Given the description of an element on the screen output the (x, y) to click on. 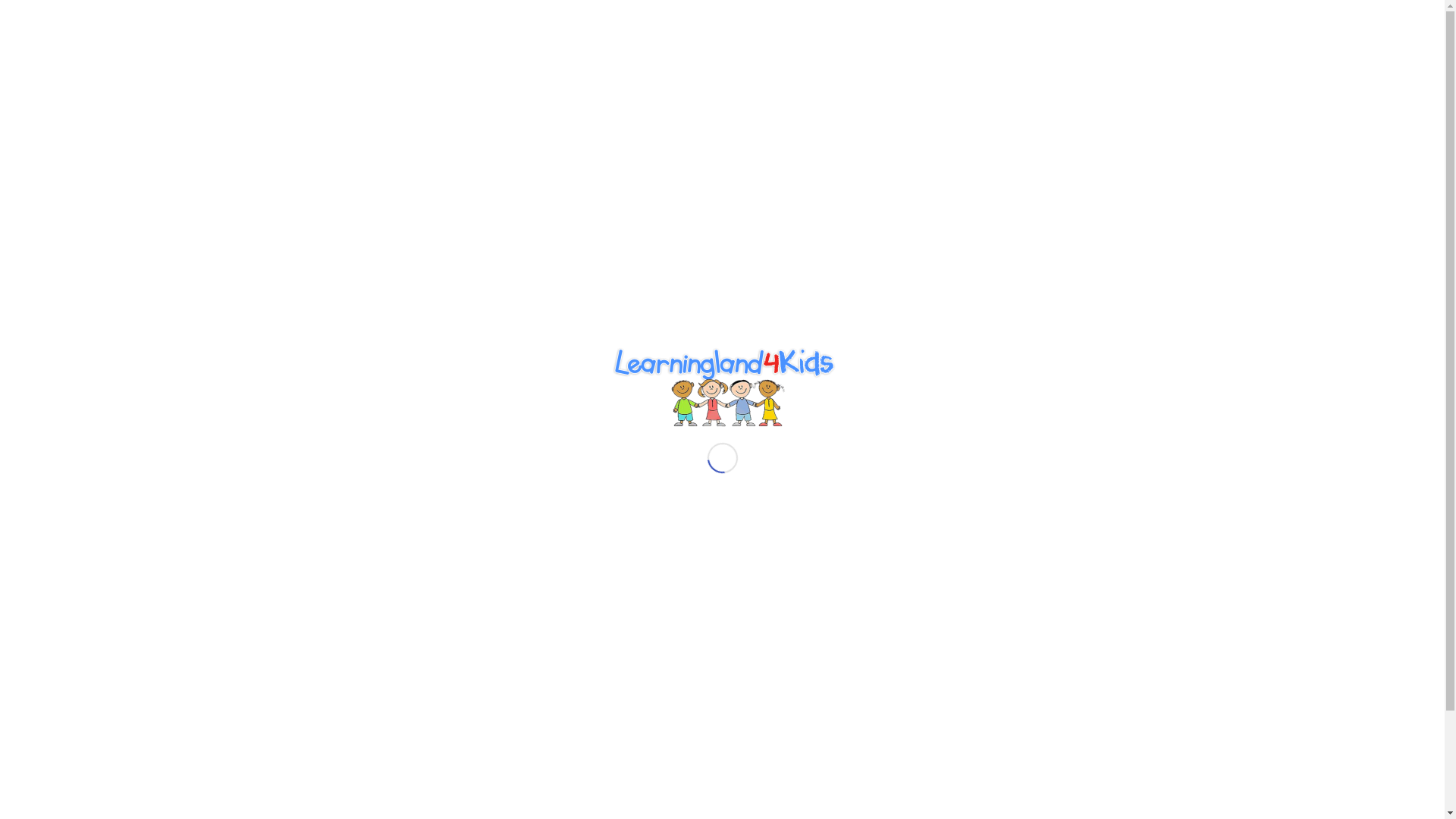
Programs Element type: text (606, 131)
Instagram Element type: hover (1028, 11)
Mail Element type: hover (1051, 11)
Timetable Element type: text (749, 131)
Loading Element type: hover (721, 386)
Blog Element type: text (950, 131)
Testimonials Element type: text (827, 131)
Contact Element type: text (899, 131)
Facebook Element type: hover (1005, 11)
Home Element type: text (496, 131)
Enrolment Element type: text (677, 131)
About Element type: text (547, 131)
